Given the description of an element on the screen output the (x, y) to click on. 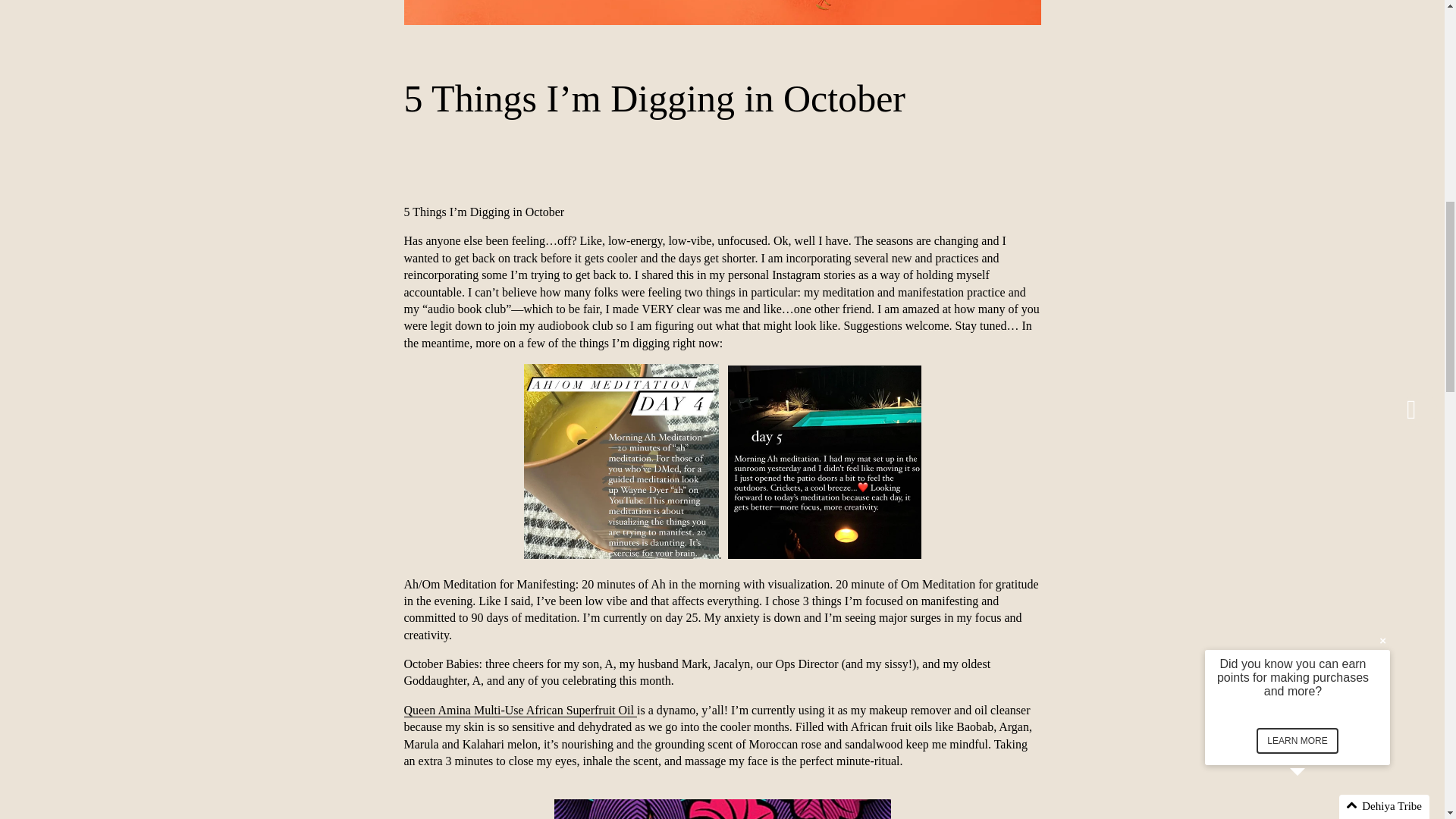
Queen Amina African Superfruit Oil (520, 710)
